Given the description of an element on the screen output the (x, y) to click on. 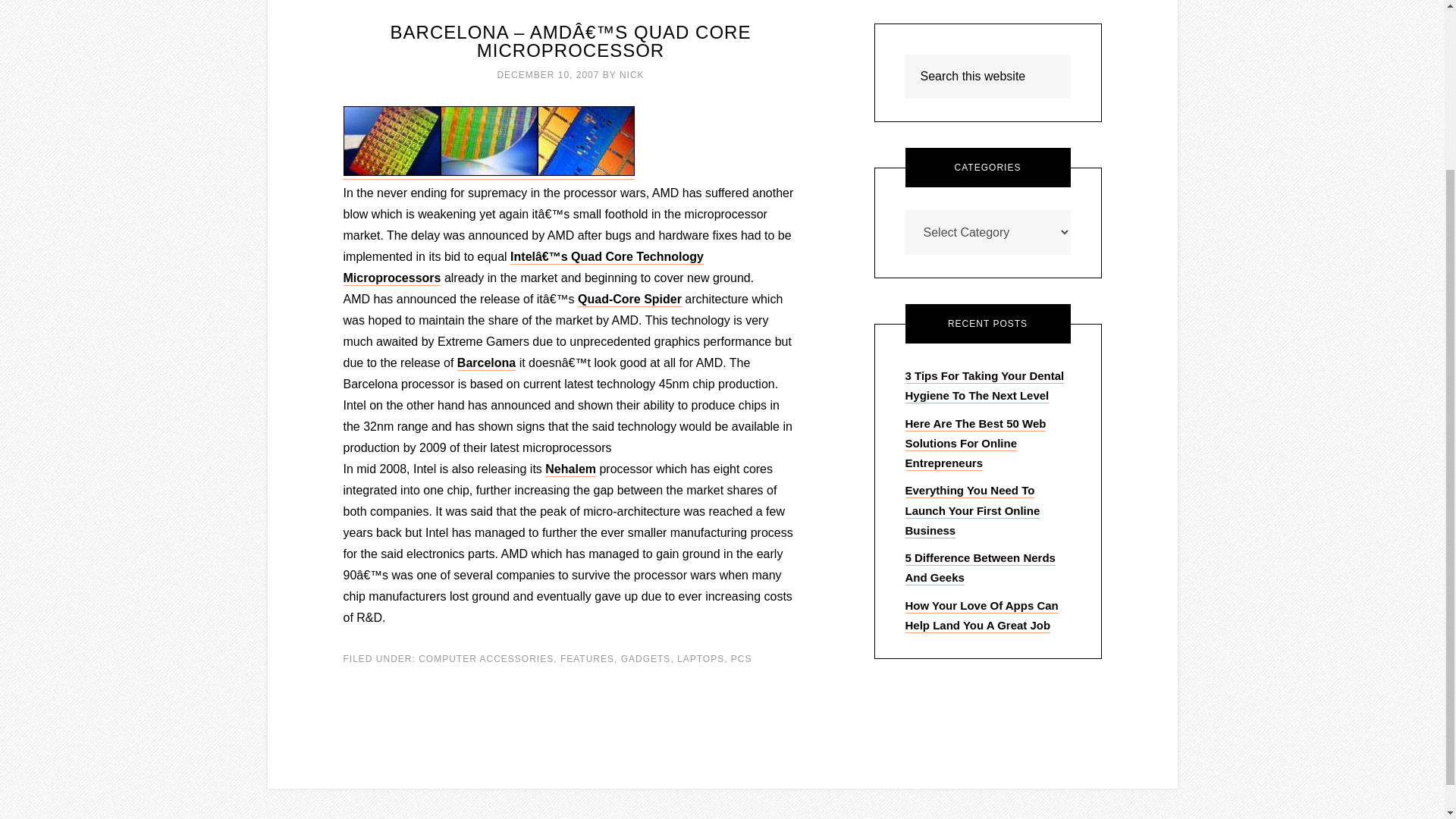
Quad-Core Spider (629, 299)
core3.jpg (390, 172)
NICK (632, 74)
Everything You Need To Launch Your First Online Business (973, 511)
LAPTOPS (700, 658)
core2.jpg (488, 172)
core.jpg (585, 172)
GADGETS (646, 658)
